Given the description of an element on the screen output the (x, y) to click on. 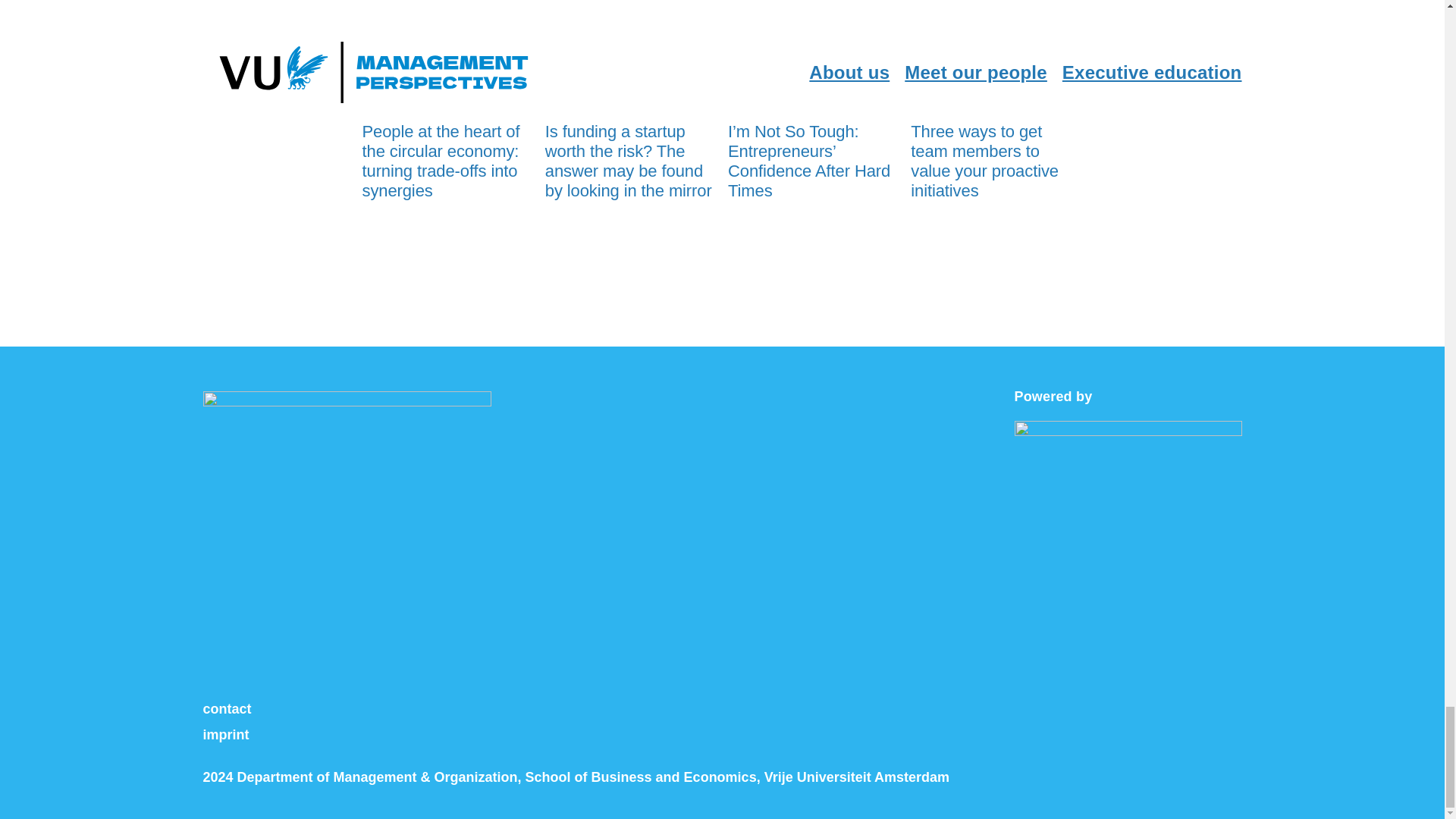
imprint (225, 734)
contact (227, 708)
